Given the description of an element on the screen output the (x, y) to click on. 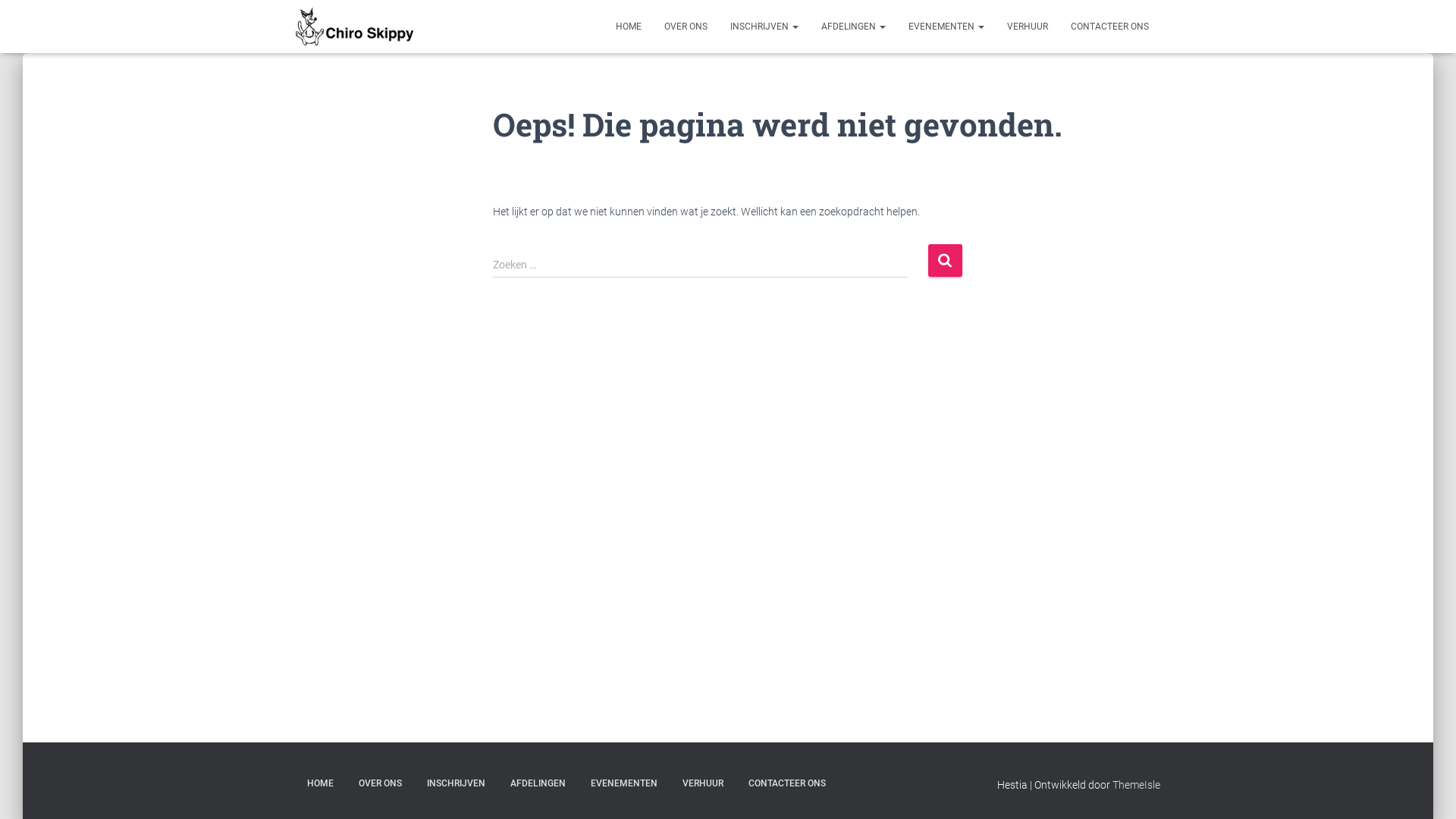
OVER ONS Element type: text (685, 26)
ThemeIsle Element type: text (1136, 784)
EVENEMENTEN Element type: text (623, 783)
INSCHRIJVEN Element type: text (763, 26)
Zoeken Element type: text (945, 260)
INSCHRIJVEN Element type: text (455, 783)
HOME Element type: text (628, 26)
CONTACTEER ONS Element type: text (1109, 26)
AFDELINGEN Element type: text (537, 783)
EVENEMENTEN Element type: text (946, 26)
OVER ONS Element type: text (380, 783)
AFDELINGEN Element type: text (853, 26)
Chiro Skippy Element type: hover (354, 26)
VERHUUR Element type: text (1027, 26)
CONTACTEER ONS Element type: text (787, 783)
HOME Element type: text (320, 783)
VERHUUR Element type: text (702, 783)
